Given the description of an element on the screen output the (x, y) to click on. 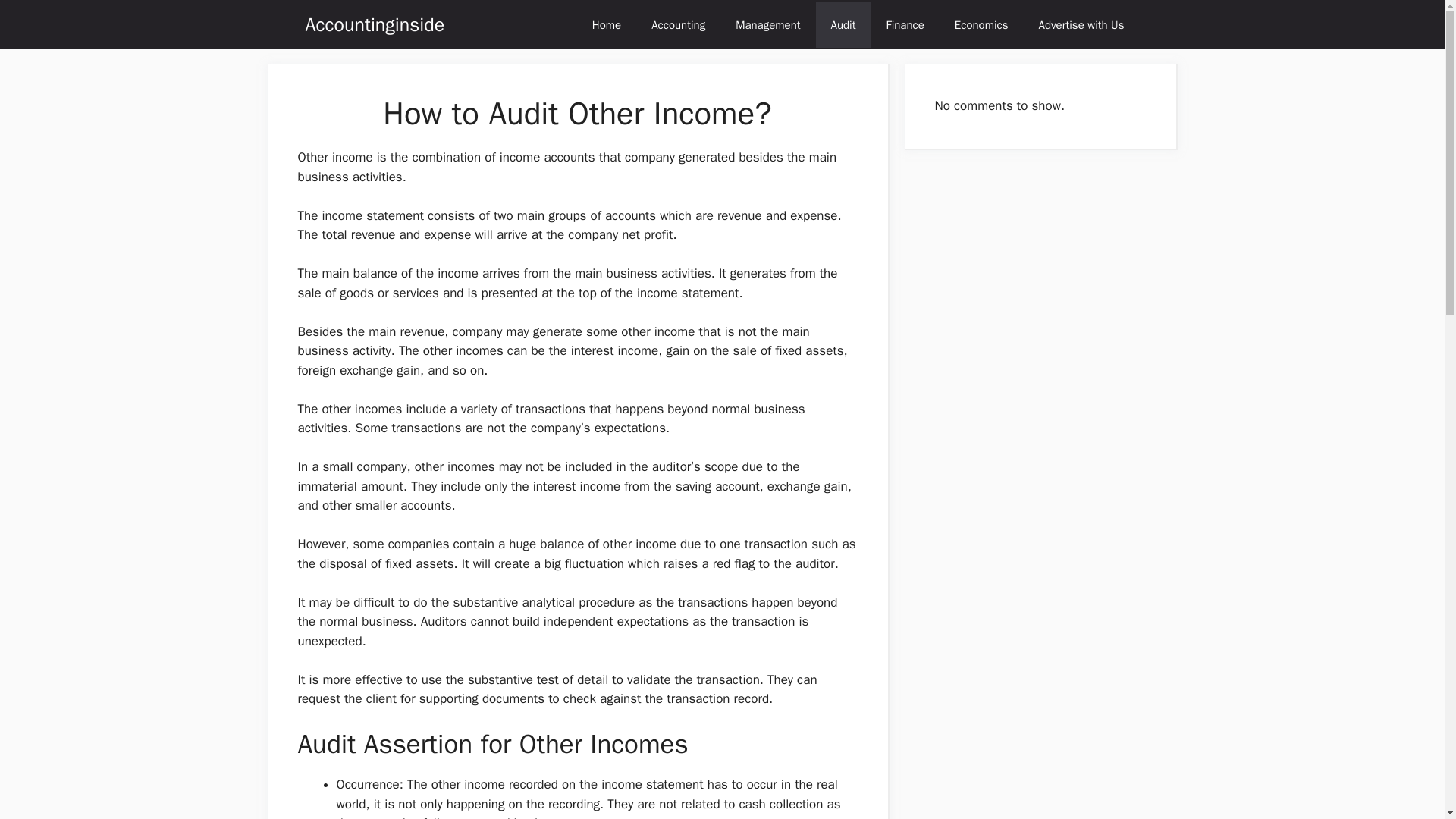
Accounting (678, 23)
Home (606, 23)
Audit (842, 23)
Advertise with Us (1081, 23)
Management (767, 23)
Accountinginside (374, 24)
Finance (904, 23)
Economics (981, 23)
